Given the description of an element on the screen output the (x, y) to click on. 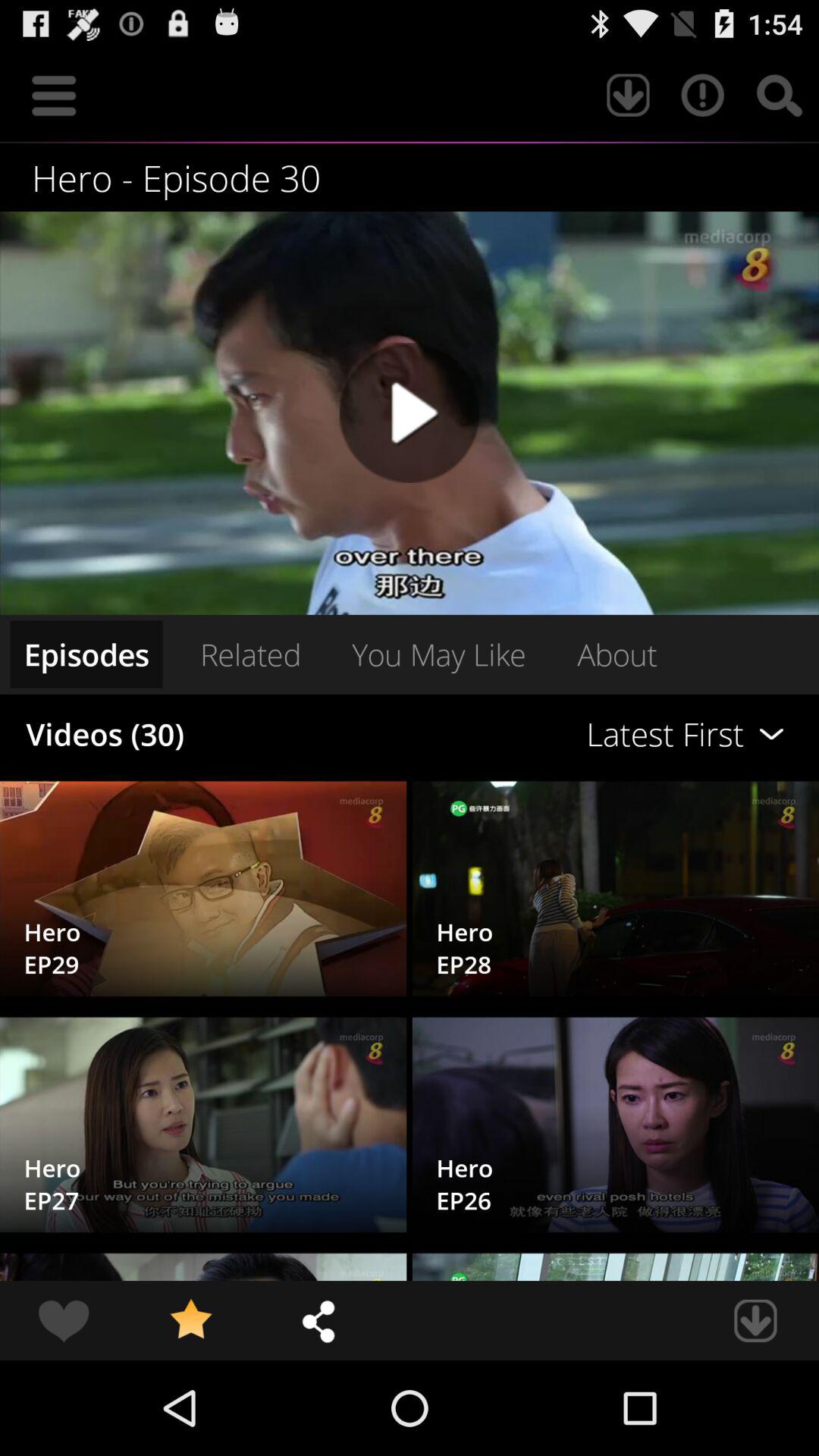
tap icon below related (560, 734)
